Given the description of an element on the screen output the (x, y) to click on. 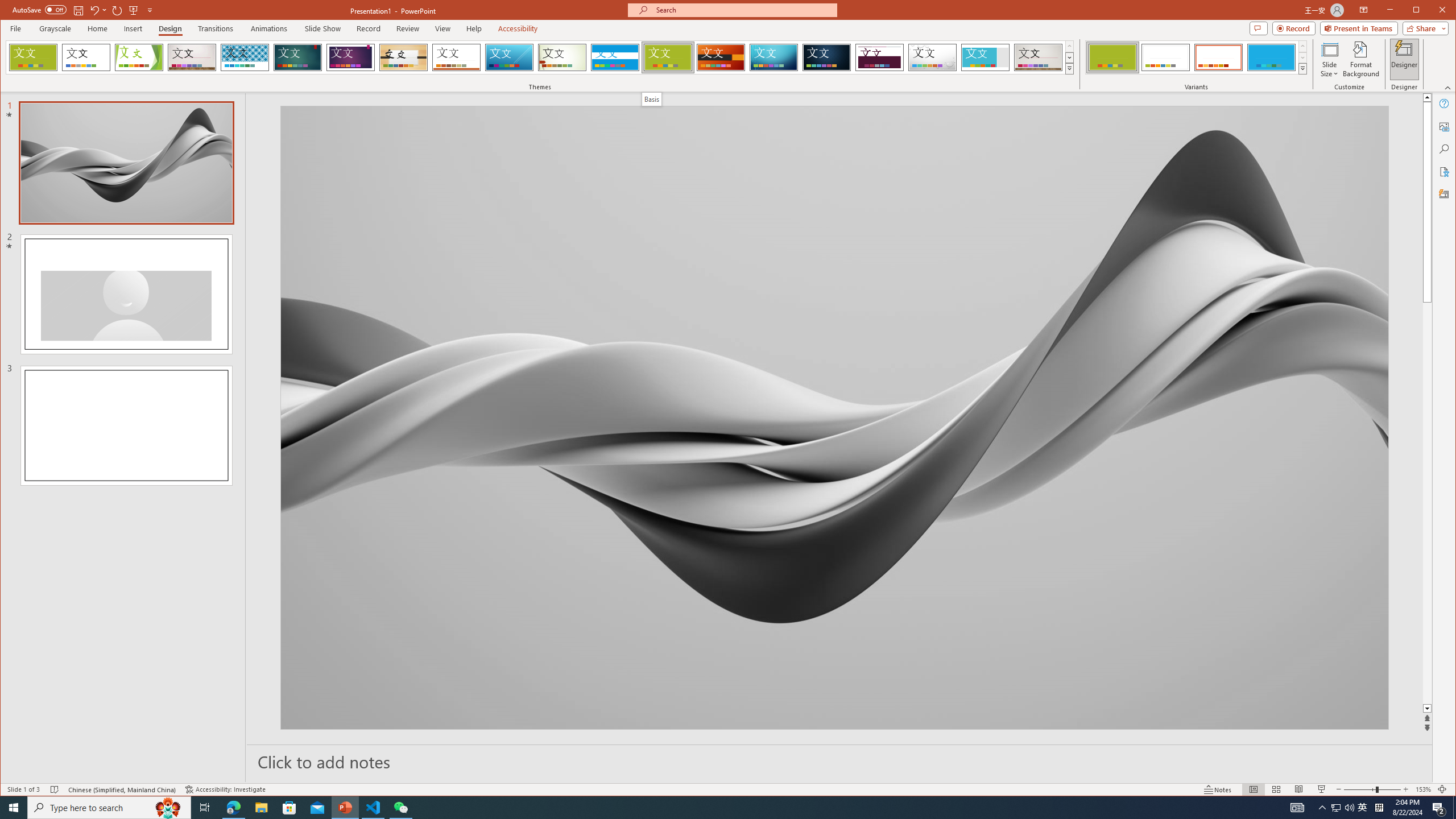
Wisp (561, 57)
WeChat - 1 running window (400, 807)
Damask (826, 57)
Facet (138, 57)
